Given the description of an element on the screen output the (x, y) to click on. 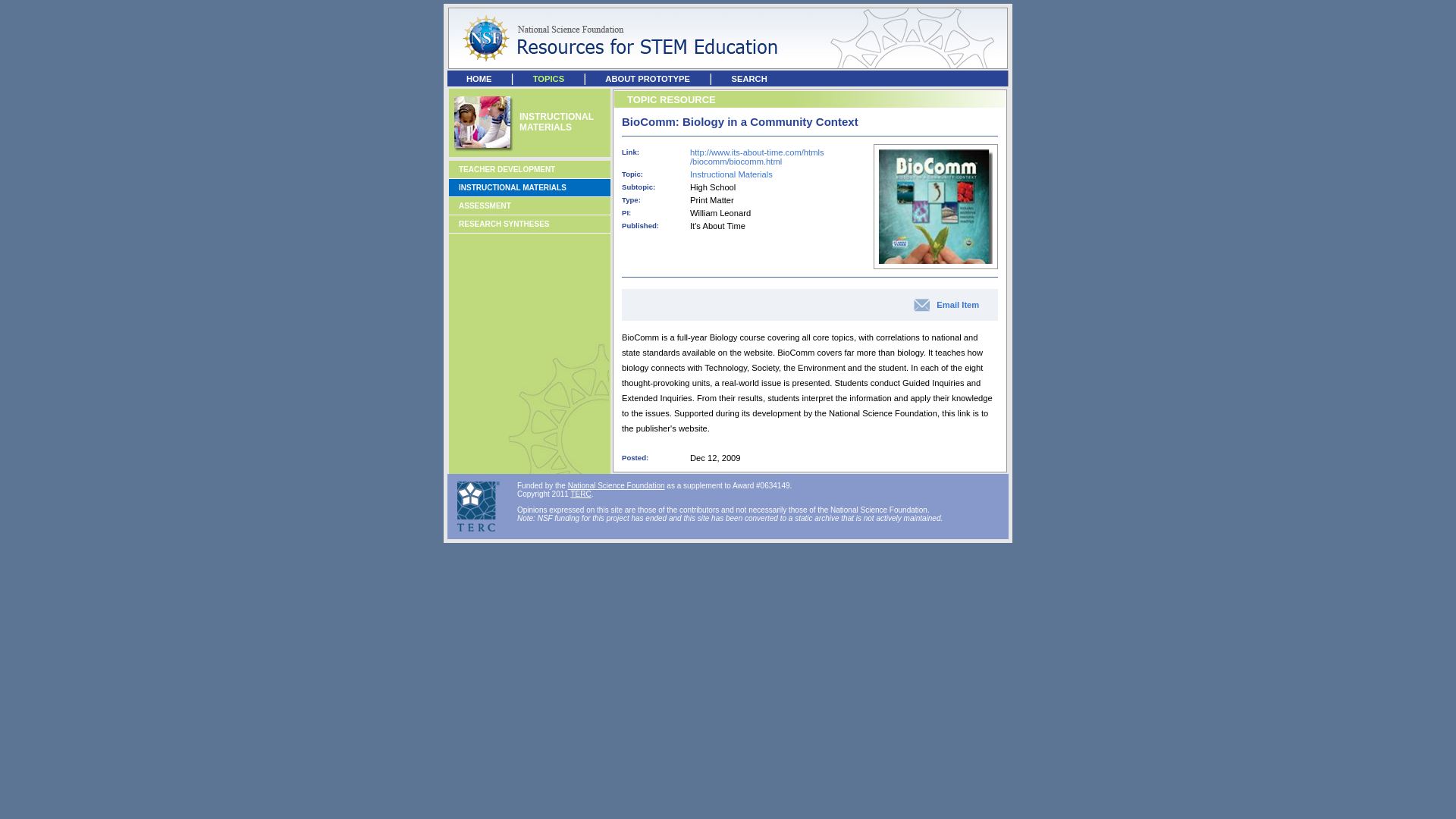
National Science Foundation (616, 485)
TEACHER DEVELOPMENT (506, 169)
RESEARCH SYNTHESES (503, 224)
ASSESSMENT (484, 205)
Instructional Materials (731, 174)
TERC (580, 493)
SEARCH (748, 78)
ABOUT PROTOTYPE (647, 78)
INSTRUCTIONAL MATERIALS (556, 121)
INSTRUCTIONAL MATERIALS (512, 187)
